Given the description of an element on the screen output the (x, y) to click on. 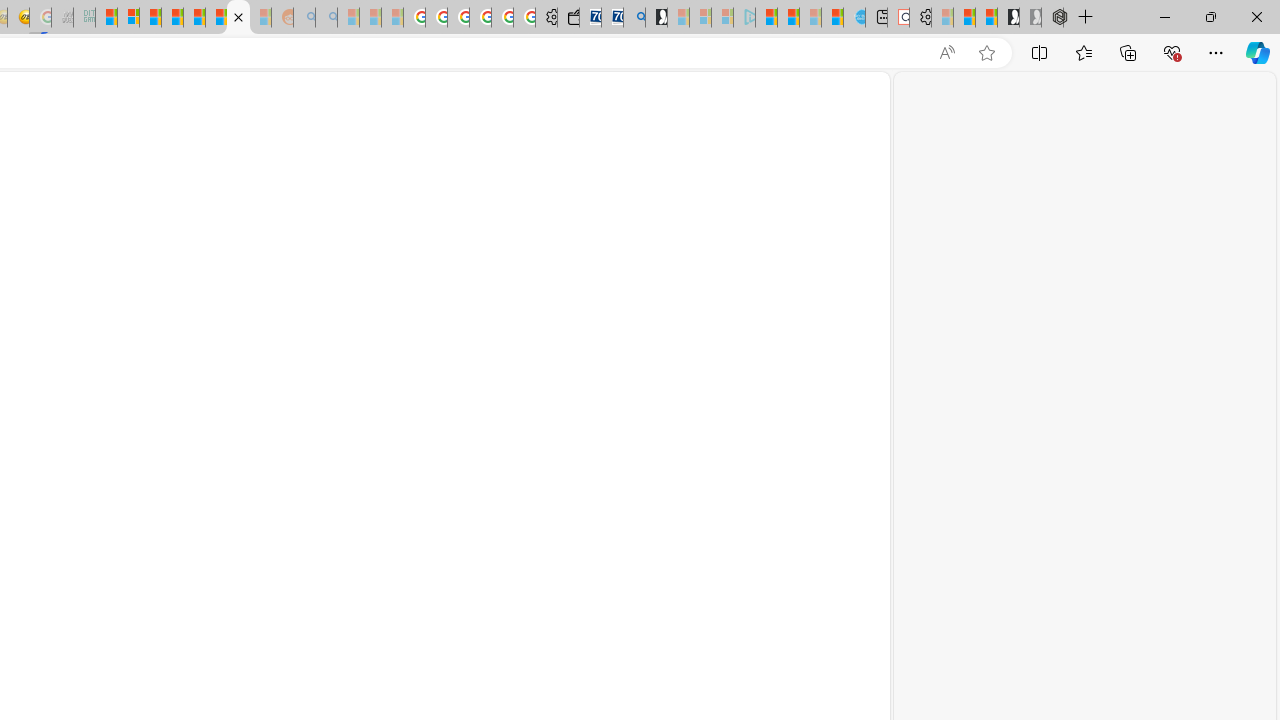
Wallet (568, 17)
